Given the description of an element on the screen output the (x, y) to click on. 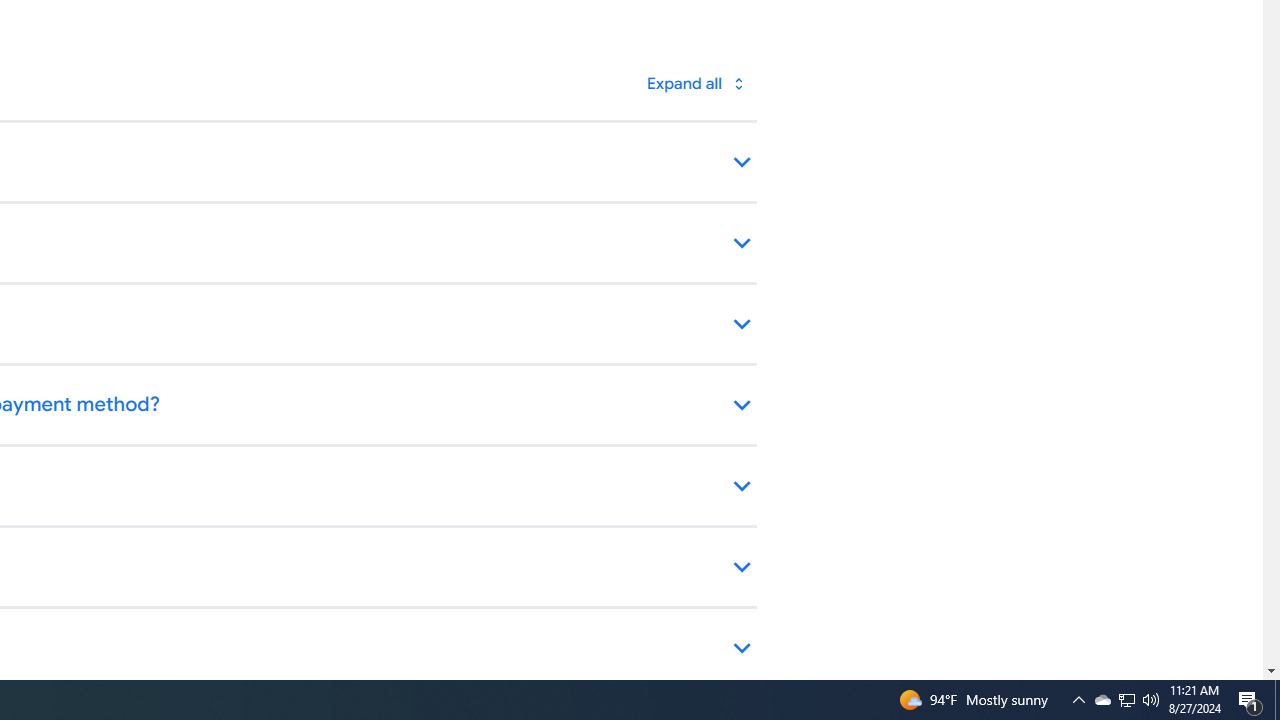
Toggle all (694, 83)
